Given the description of an element on the screen output the (x, y) to click on. 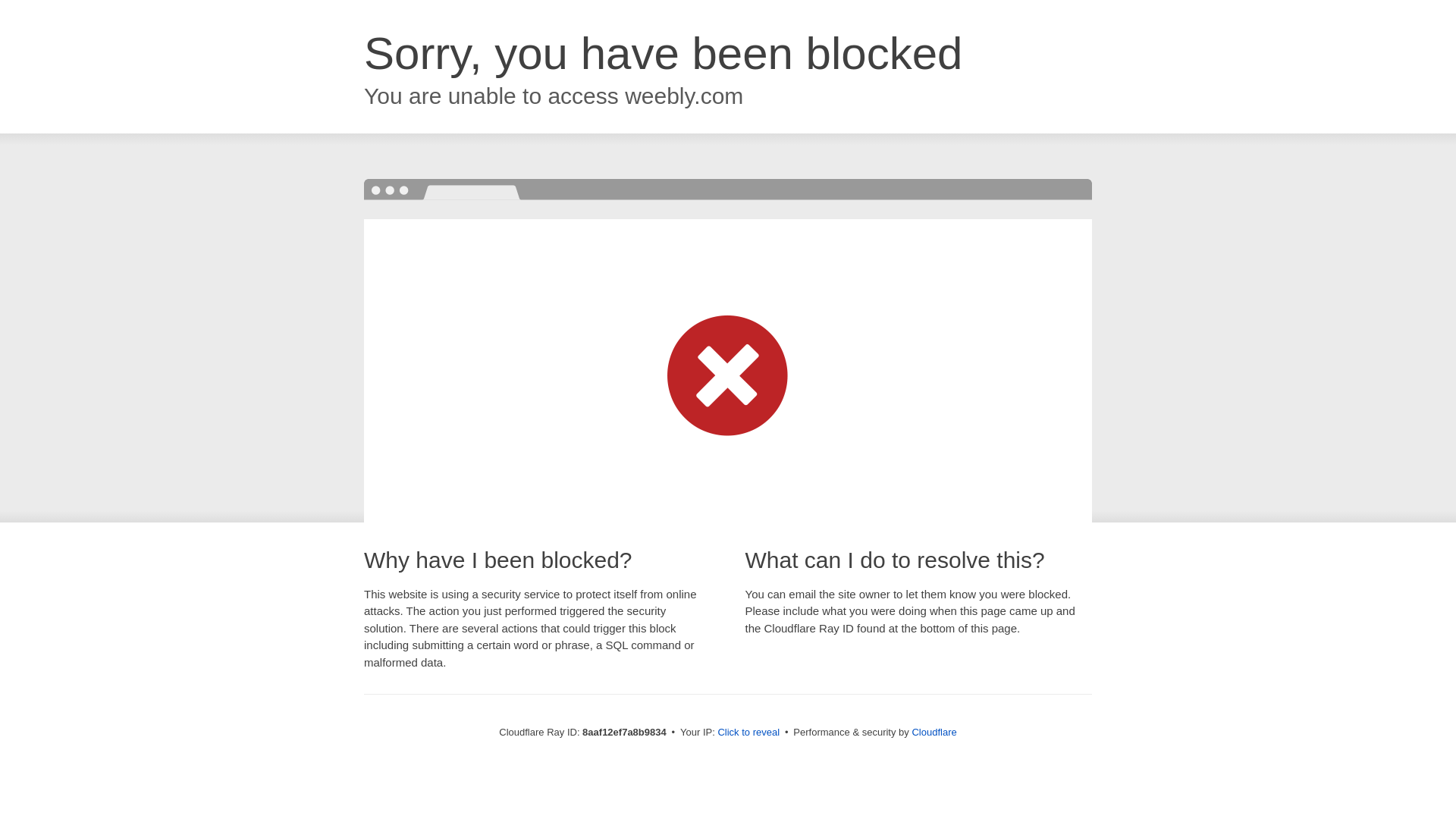
Click to reveal (747, 732)
Cloudflare (933, 731)
